Given the description of an element on the screen output the (x, y) to click on. 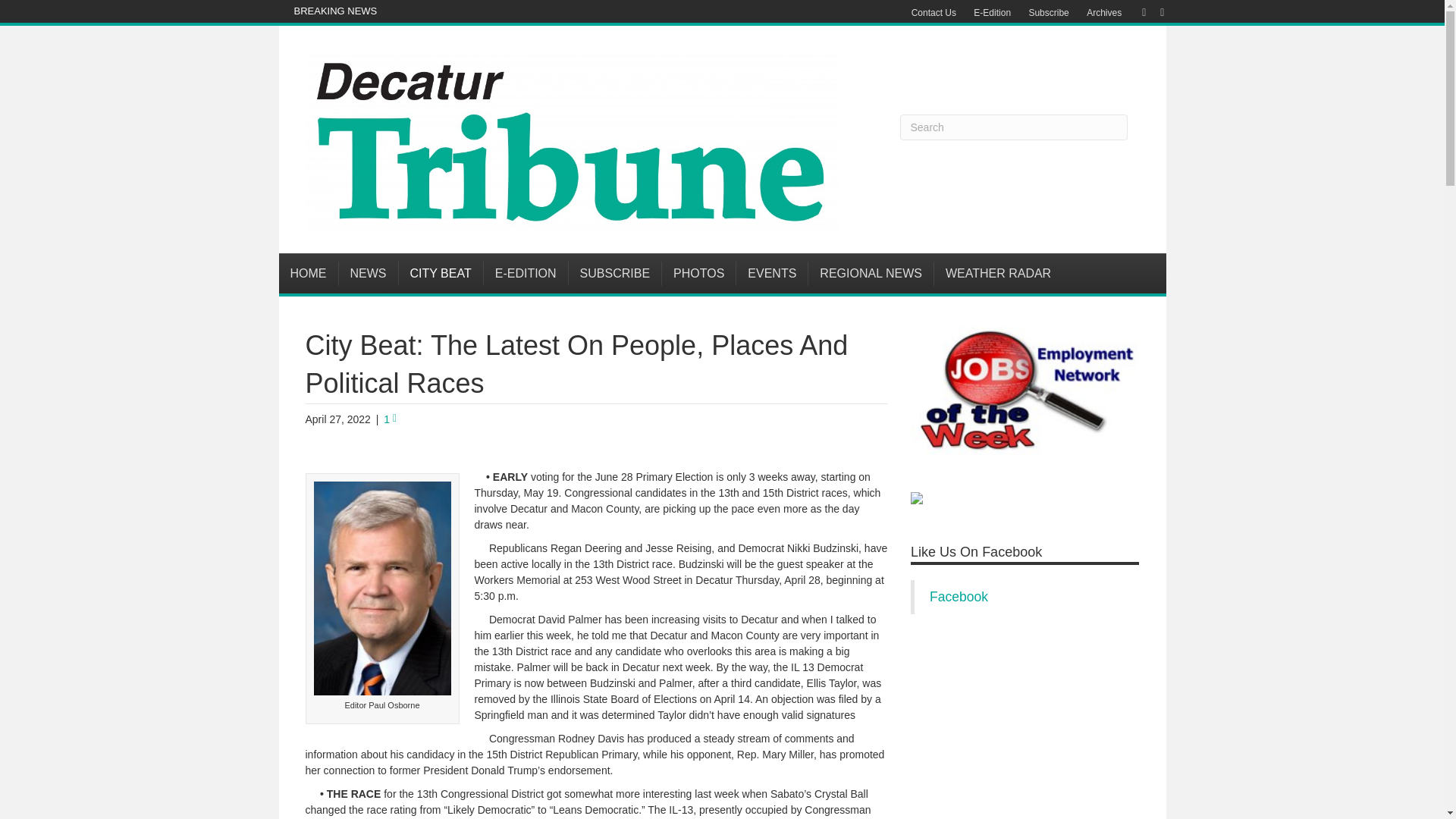
Archives (1103, 13)
Email (1154, 11)
WEATHER RADAR (998, 273)
SUBSCRIBE (615, 273)
Type and press Enter to search. (1012, 127)
HOME (309, 273)
Contact Us (933, 13)
REGIONAL NEWS (871, 273)
Subscribe (1047, 13)
NEWS (367, 273)
E-Edition (991, 13)
PHOTOS (699, 273)
1 (390, 419)
E-EDITION (526, 273)
Facebook (1135, 11)
